Given the description of an element on the screen output the (x, y) to click on. 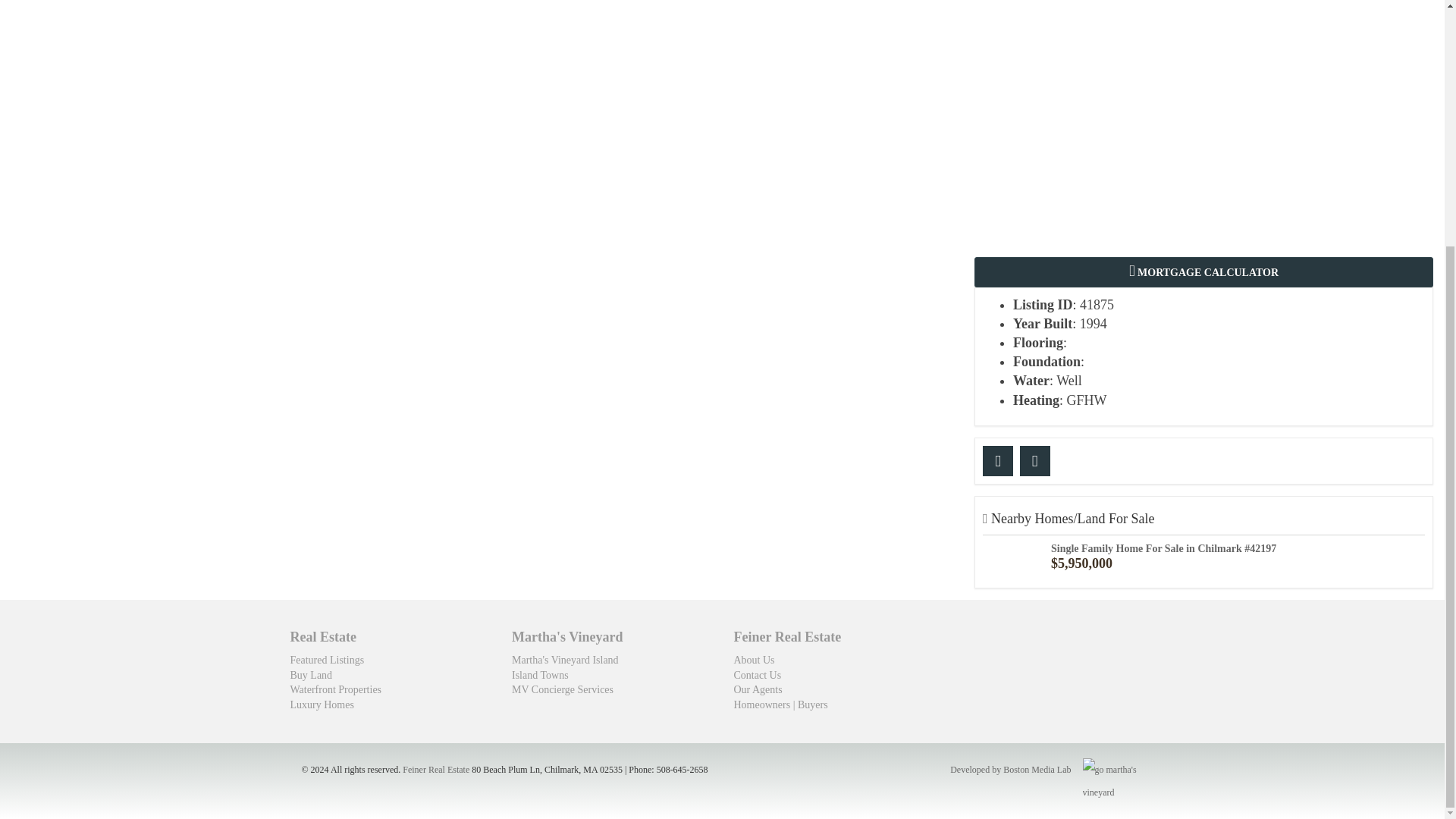
Send to a friend (997, 460)
real estate website designers (1010, 769)
buy a property with us (812, 704)
List Your Home (763, 704)
Feiner real estate Martha's Vineyard (435, 769)
